Given the description of an element on the screen output the (x, y) to click on. 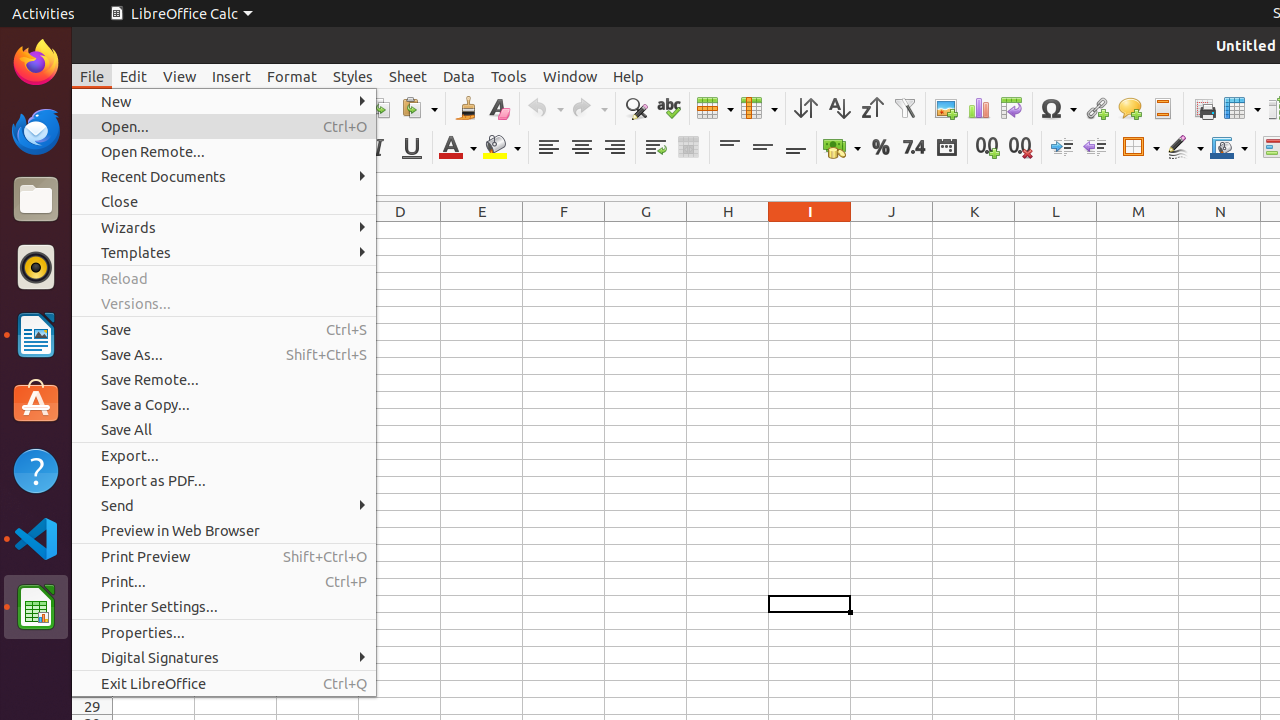
Comment Element type: push-button (1129, 108)
Format Element type: menu (292, 76)
Edit Element type: menu (133, 76)
Printer Settings... Element type: menu-item (224, 606)
Hyperlink Element type: toggle-button (1096, 108)
